Given the description of an element on the screen output the (x, y) to click on. 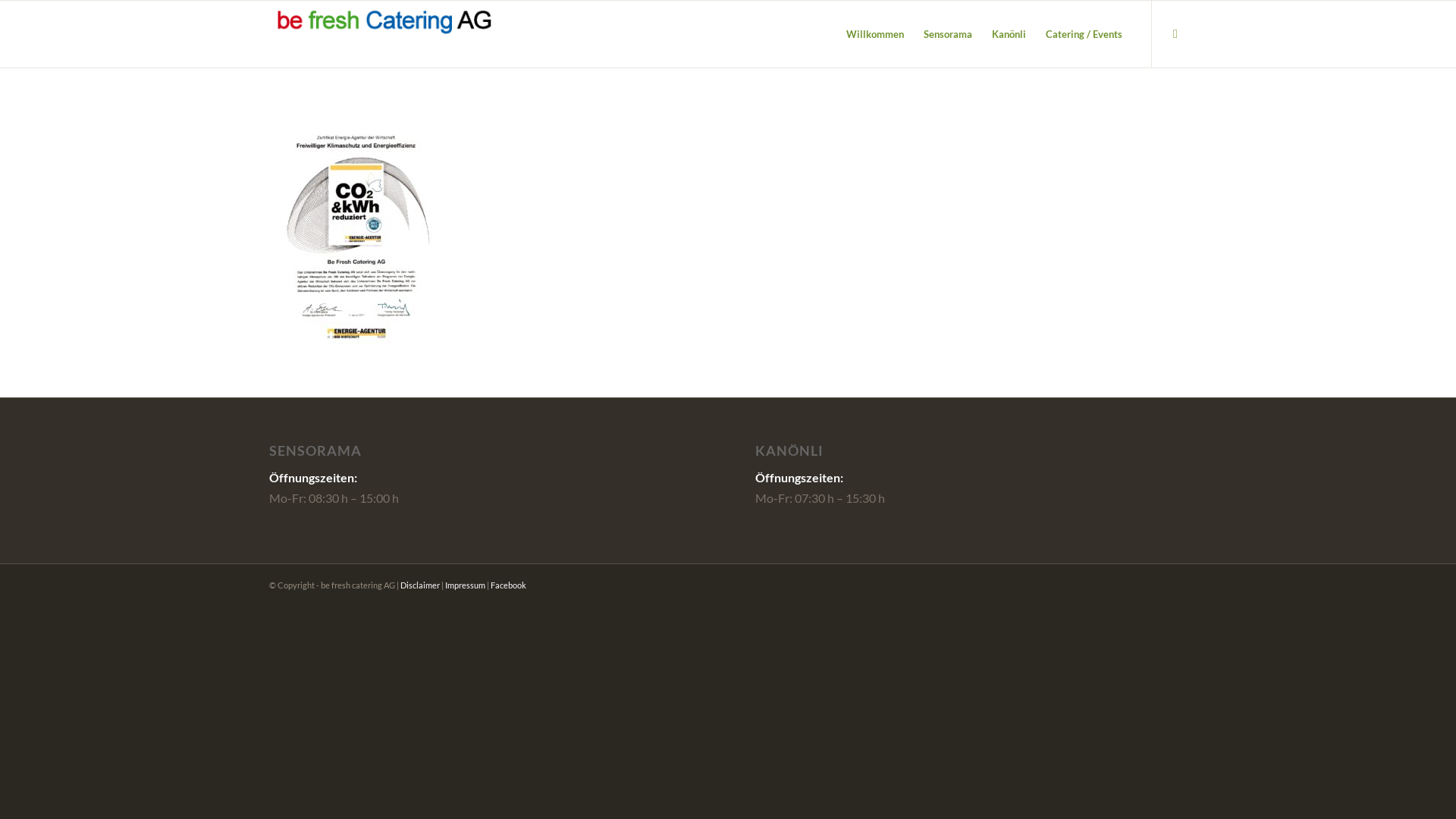
Facebook Element type: text (508, 584)
Sensorama Element type: text (947, 33)
Impressum Element type: text (465, 584)
Disclaimer Element type: text (419, 584)
Catering / Events Element type: text (1083, 33)
Facebook Element type: hover (1175, 32)
Willkommen Element type: text (874, 33)
